Given the description of an element on the screen output the (x, y) to click on. 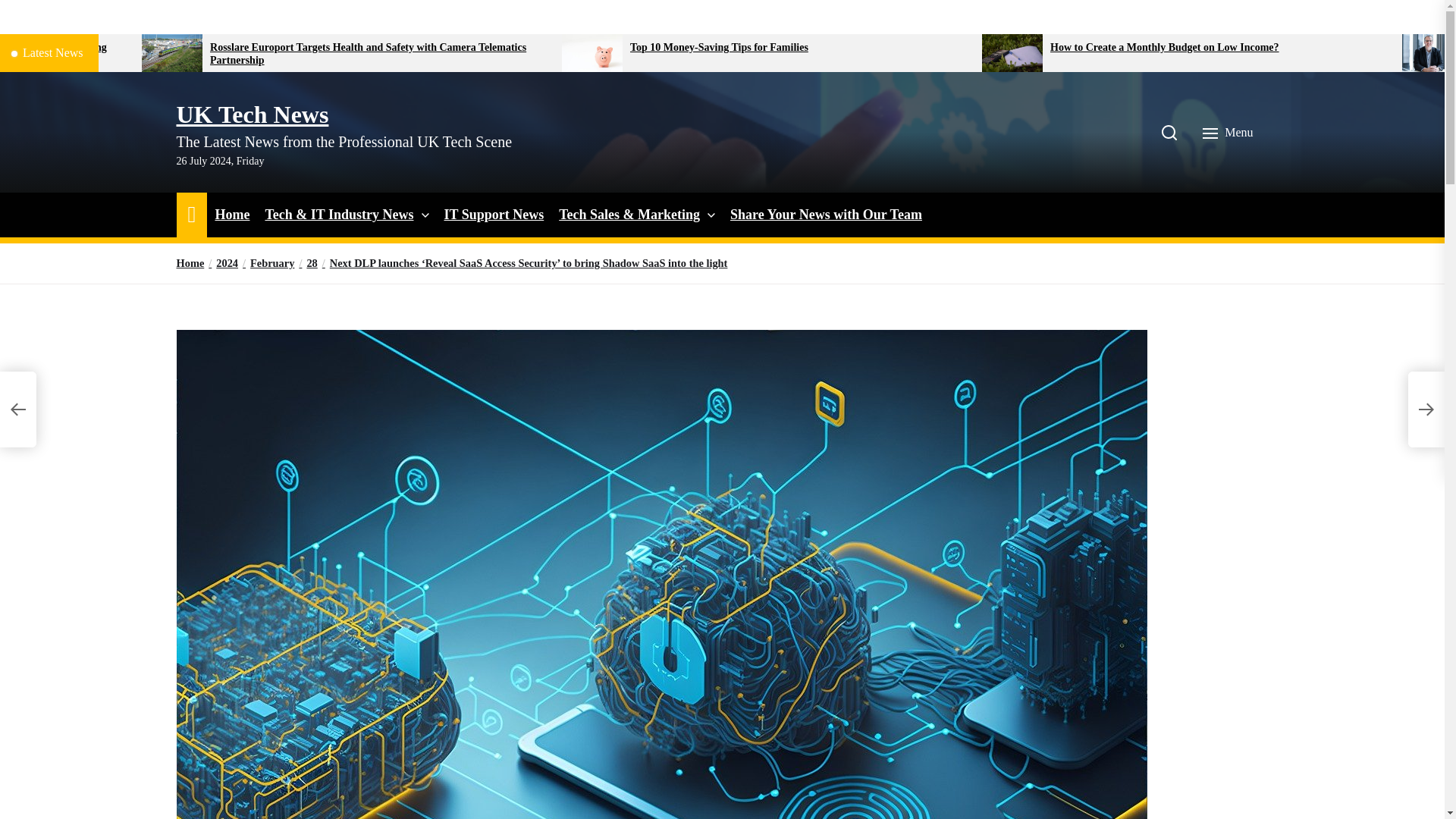
How to Create a Monthly Budget on Low Income? (1219, 47)
Top 10 Money-Saving Tips for Families (800, 47)
